Given the description of an element on the screen output the (x, y) to click on. 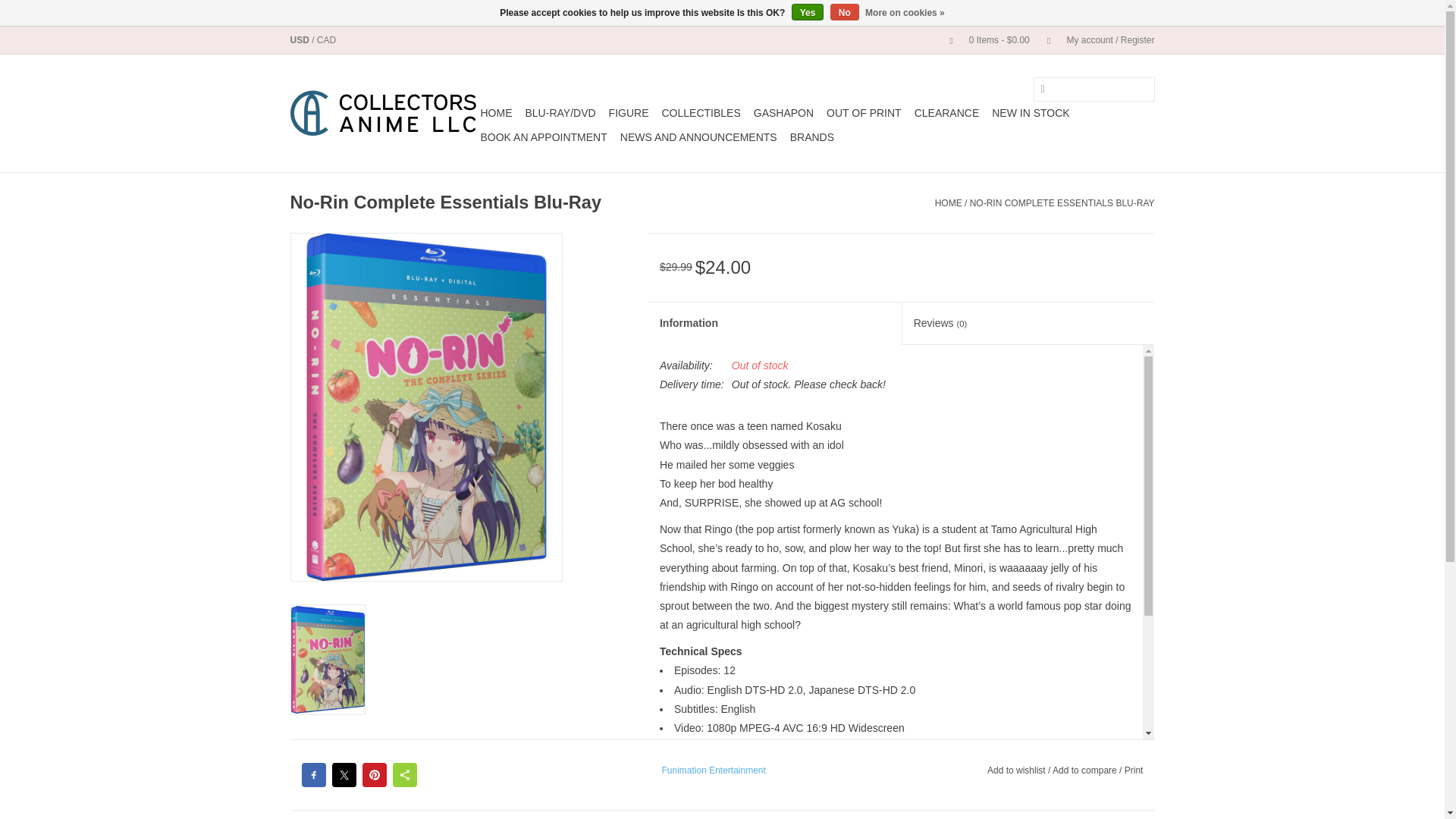
FIGURE (628, 112)
CLEARANCE (947, 112)
BOOK AN APPOINTMENT (543, 137)
HOME (948, 203)
CAD (326, 40)
Figure (628, 112)
NO-RIN COMPLETE ESSENTIALS BLU-RAY (1061, 203)
COLLECTIBLES (700, 112)
NEW IN STOCK (1030, 112)
BRANDS (812, 137)
My account (1093, 40)
OUT OF PRINT (863, 112)
cad (326, 40)
usd (300, 40)
Collectibles (700, 112)
